Given the description of an element on the screen output the (x, y) to click on. 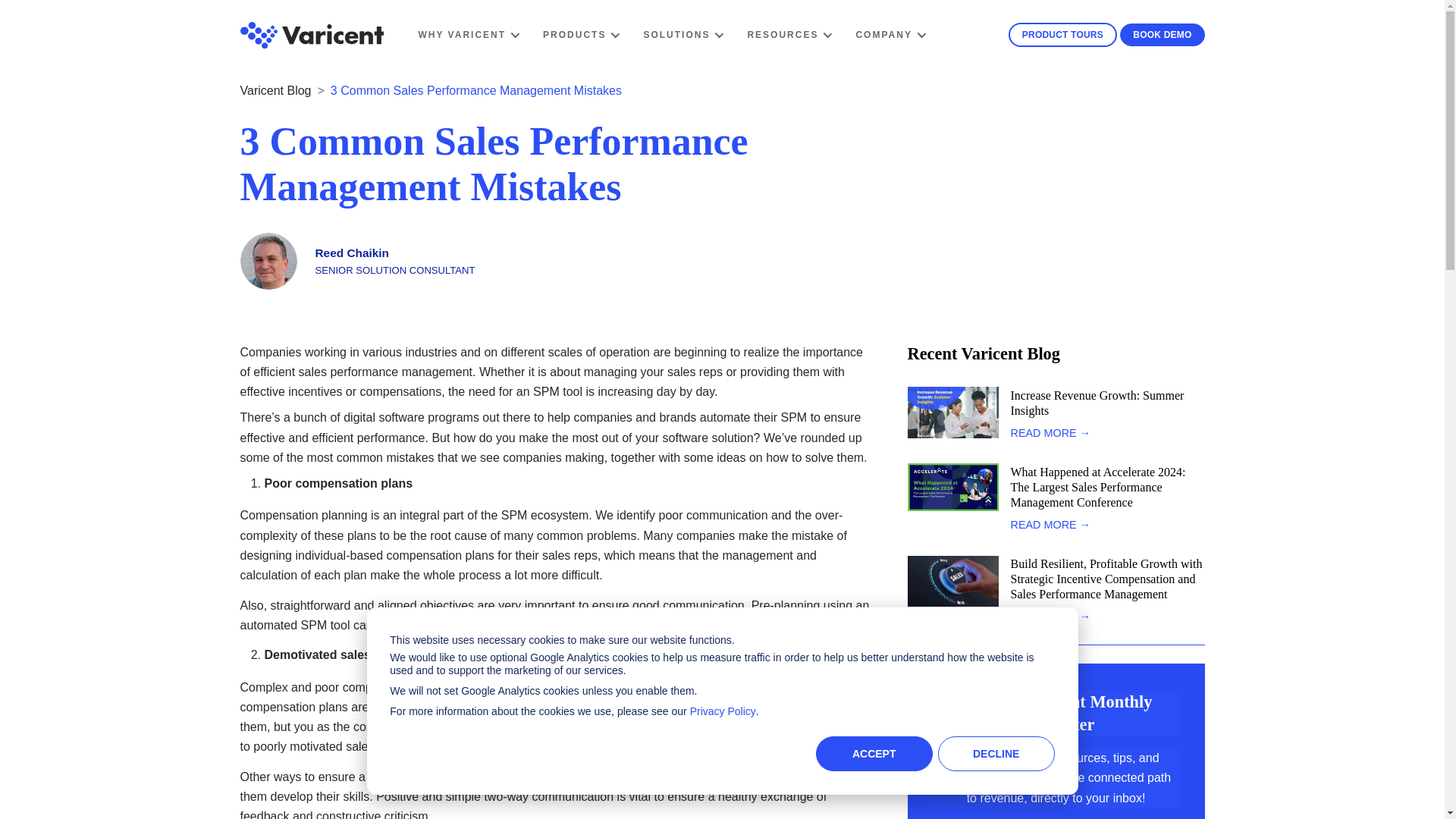
BOOK DEMO (1162, 34)
PRODUCT TOURS (1062, 34)
